Given the description of an element on the screen output the (x, y) to click on. 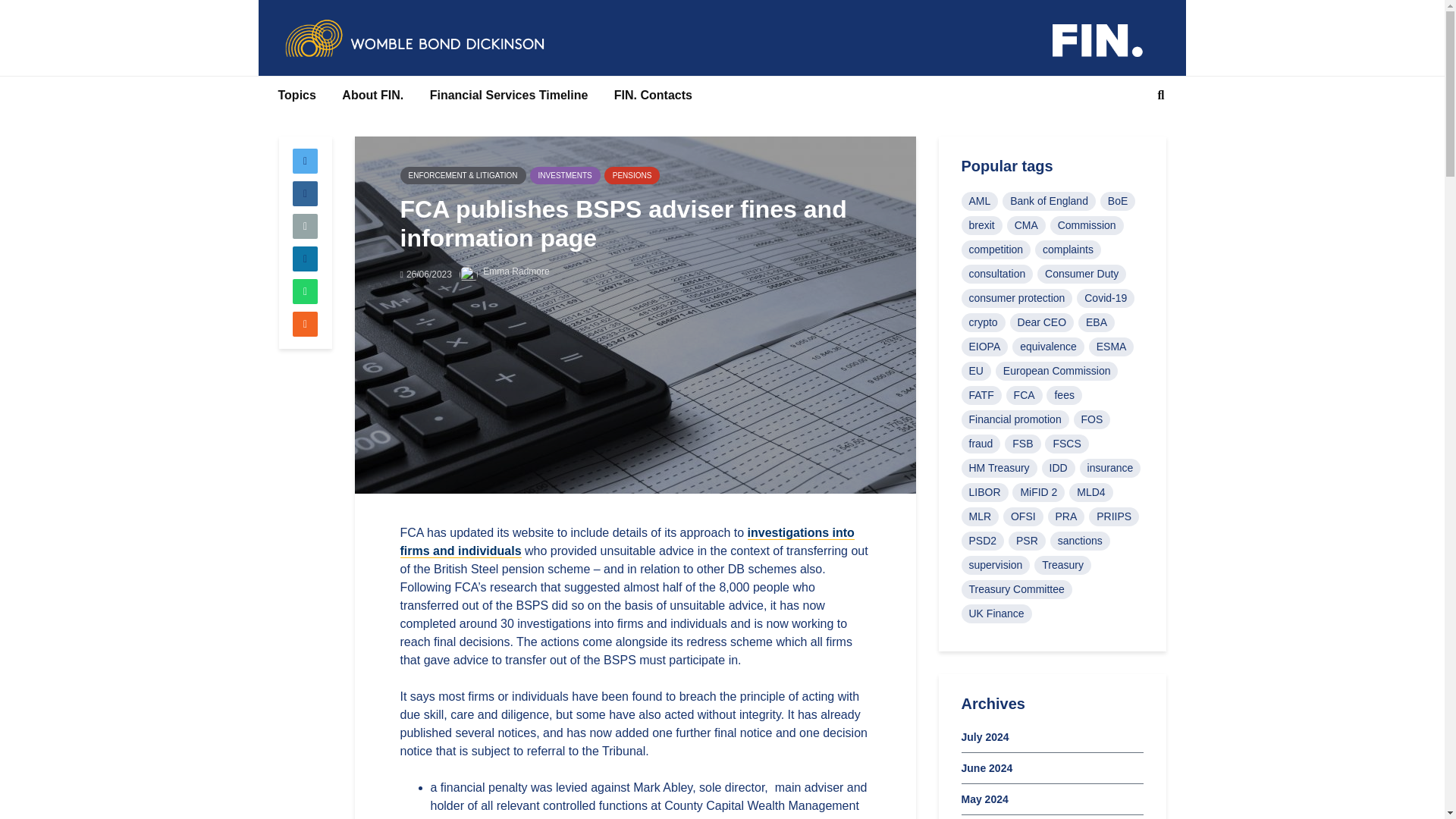
INVESTMENTS (564, 175)
Financial Services Timeline (509, 95)
Topics (296, 95)
FIN. Contacts (652, 95)
About FIN. (372, 95)
